Given the description of an element on the screen output the (x, y) to click on. 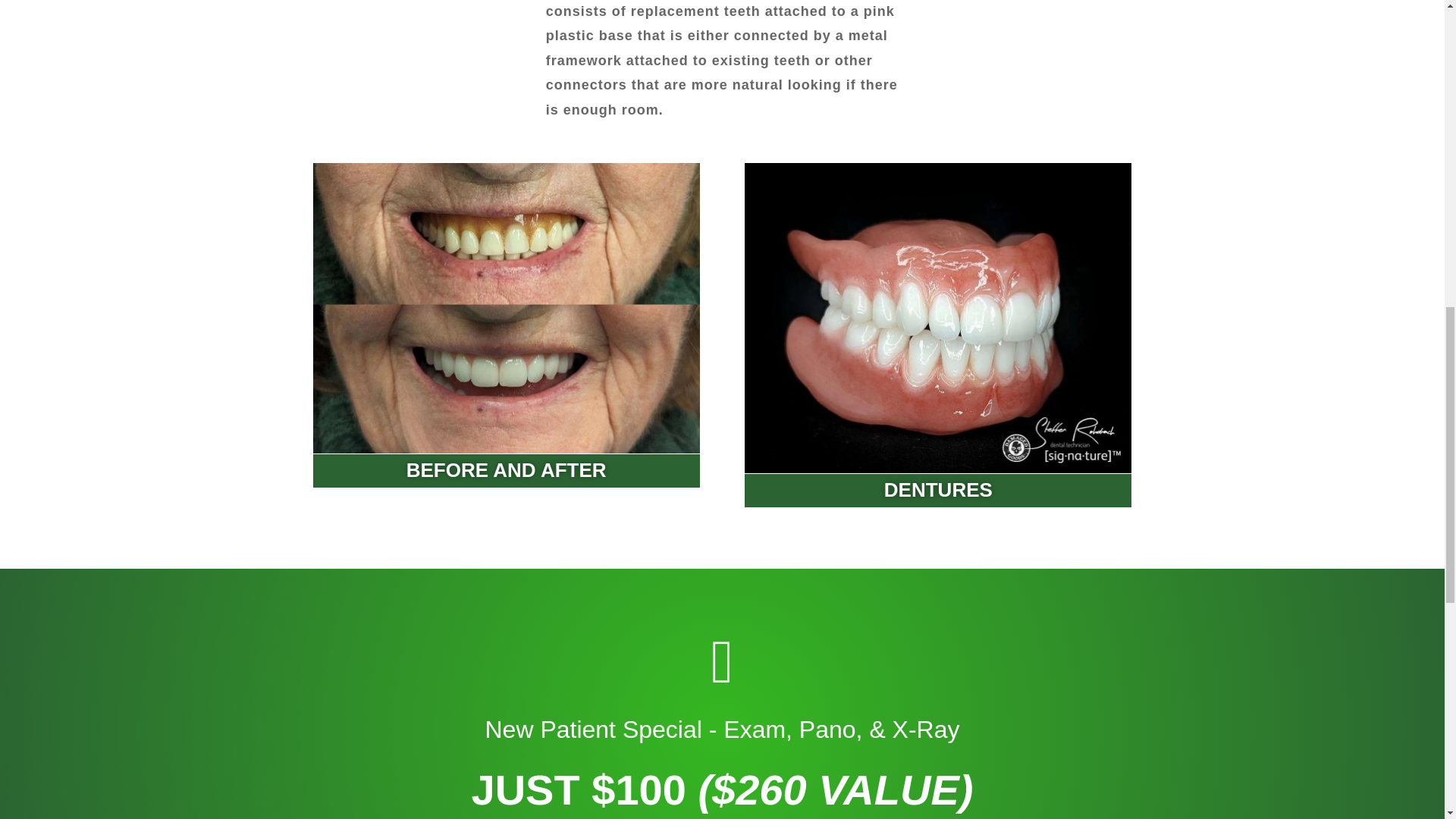
image000000 (505, 307)
image000000-2 (937, 317)
